Given the description of an element on the screen output the (x, y) to click on. 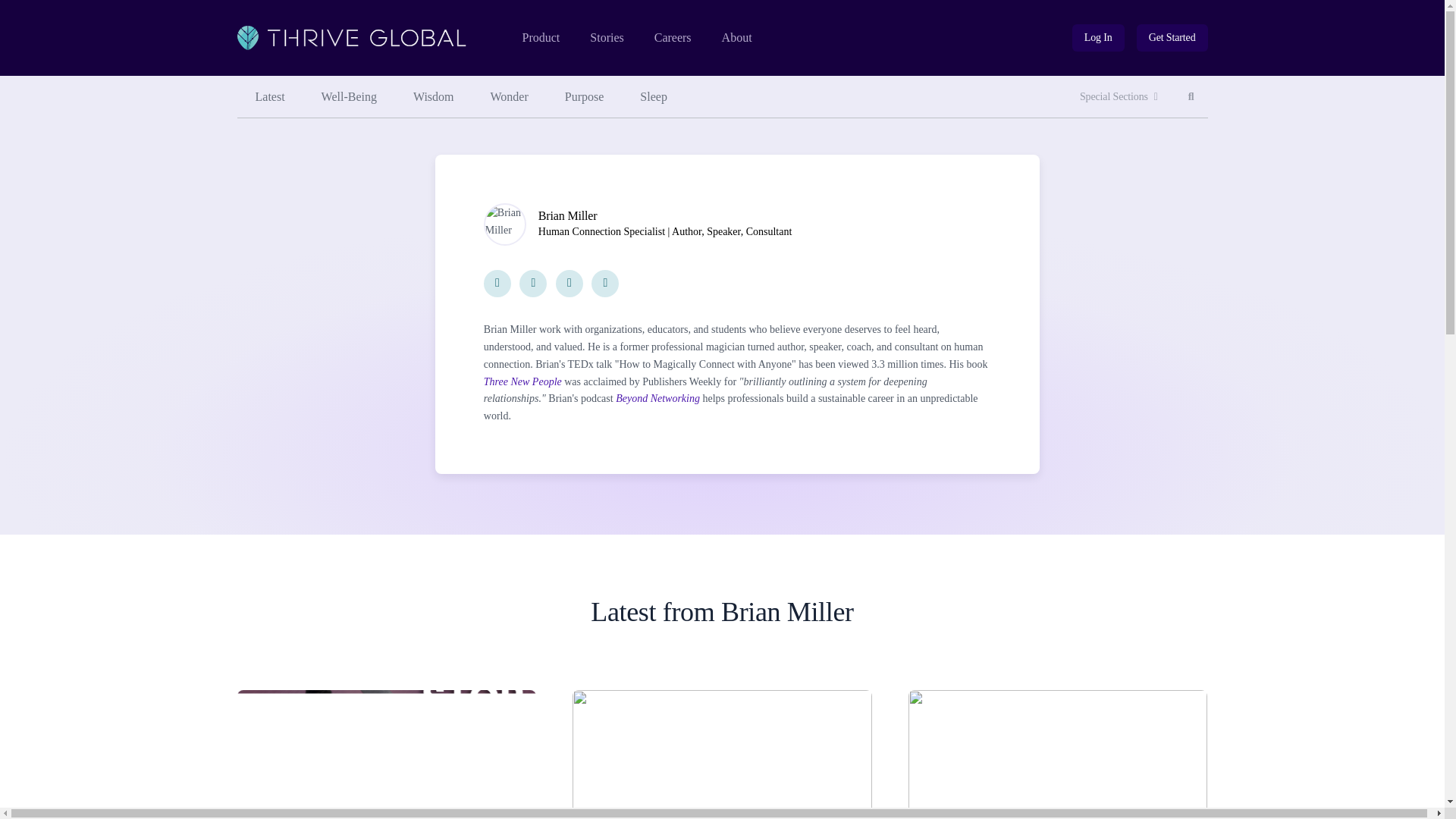
btn-info (1097, 37)
About (737, 37)
Log In (1097, 37)
Special Sections (1118, 97)
Well-Being (348, 96)
Latest (268, 96)
Purpose (585, 96)
Wonder (509, 96)
Get Started (1172, 37)
Brian Miller (567, 215)
Sleep (653, 96)
Stories (1191, 97)
Careers (606, 37)
Product (672, 37)
